Given the description of an element on the screen output the (x, y) to click on. 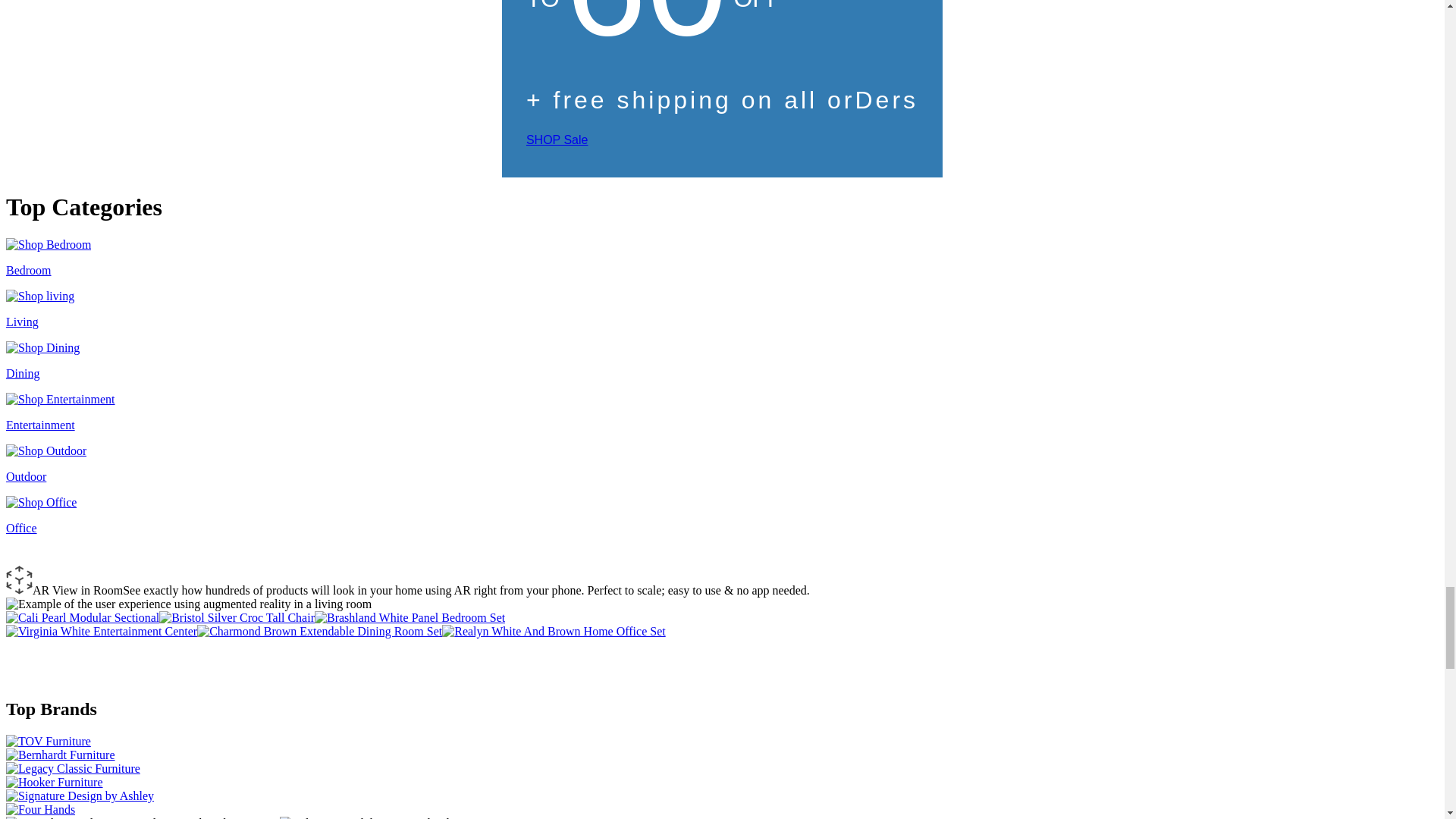
Brashland White Panel Bedroom Set by Ashley Furniture (409, 617)
Realyn White And Brown Home Office Set by Ashley Furniture (553, 631)
Cali Pearl Modular Sectional by Coleman Furniture (81, 617)
Bristol Silver Croc Tall Chair by TOV Furniture (236, 617)
